Given the description of an element on the screen output the (x, y) to click on. 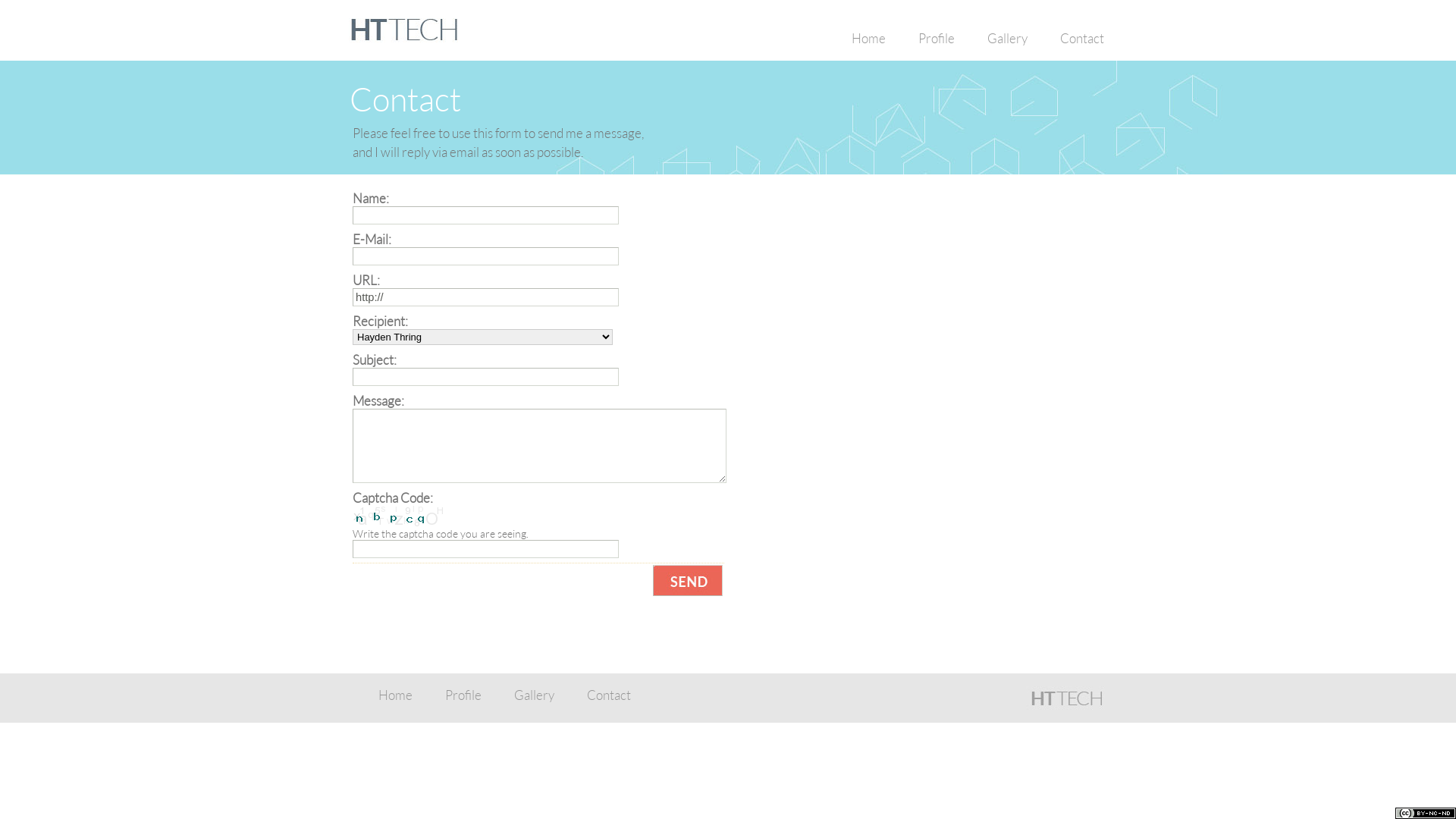
Profile Element type: text (936, 38)
Home Element type: text (868, 38)
Captcha (case insensitive) Element type: hover (485, 548)
Profile Element type: text (463, 695)
Contact Element type: text (608, 695)
Gallery Element type: text (1007, 38)
Gallery Element type: text (534, 695)
Home Element type: text (395, 695)
Send Element type: text (687, 580)
Contact Element type: text (1082, 38)
